Given the description of an element on the screen output the (x, y) to click on. 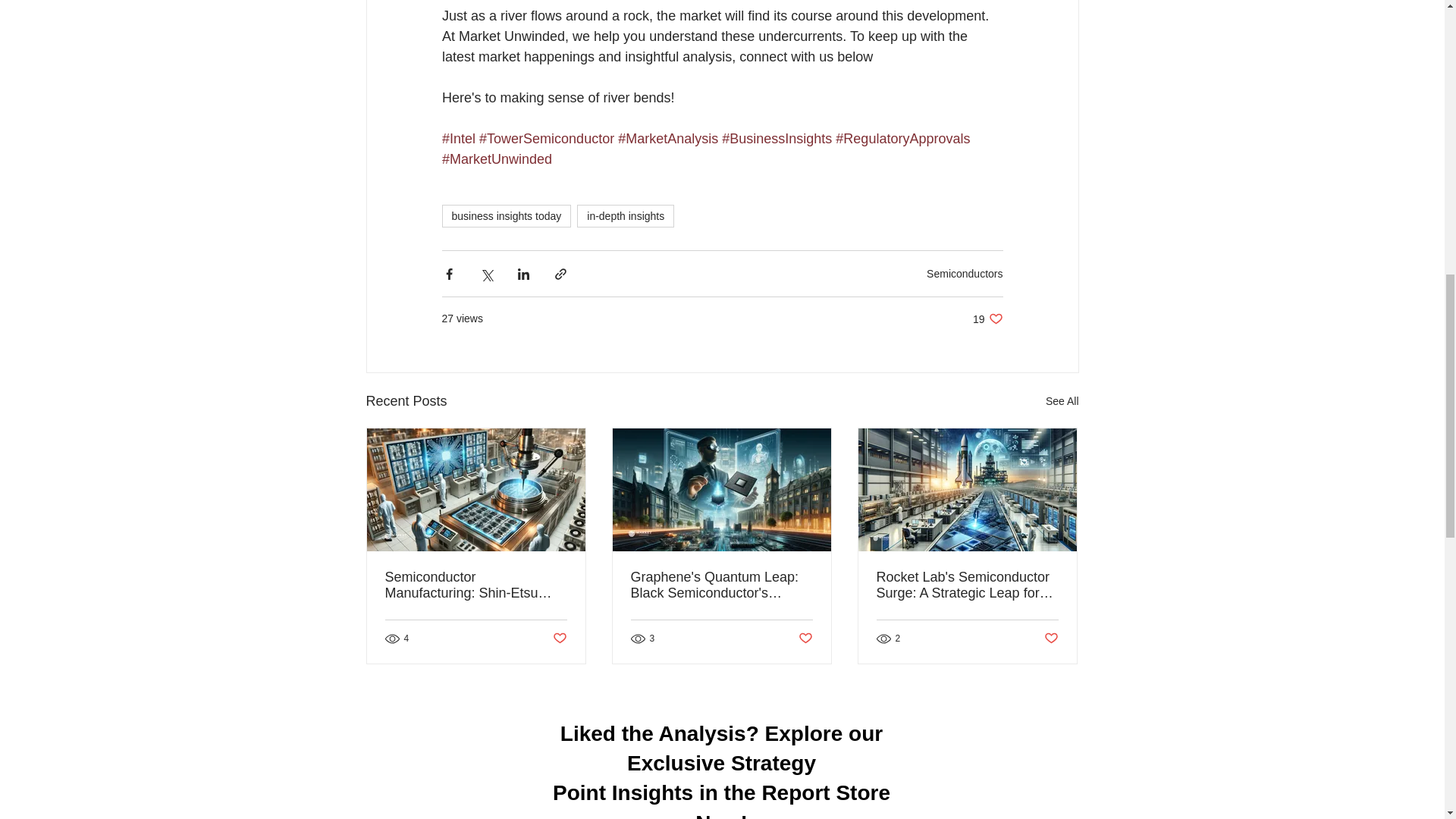
business insights today (987, 318)
in-depth insights (505, 215)
See All (625, 215)
Semiconductors (1061, 401)
